Given the description of an element on the screen output the (x, y) to click on. 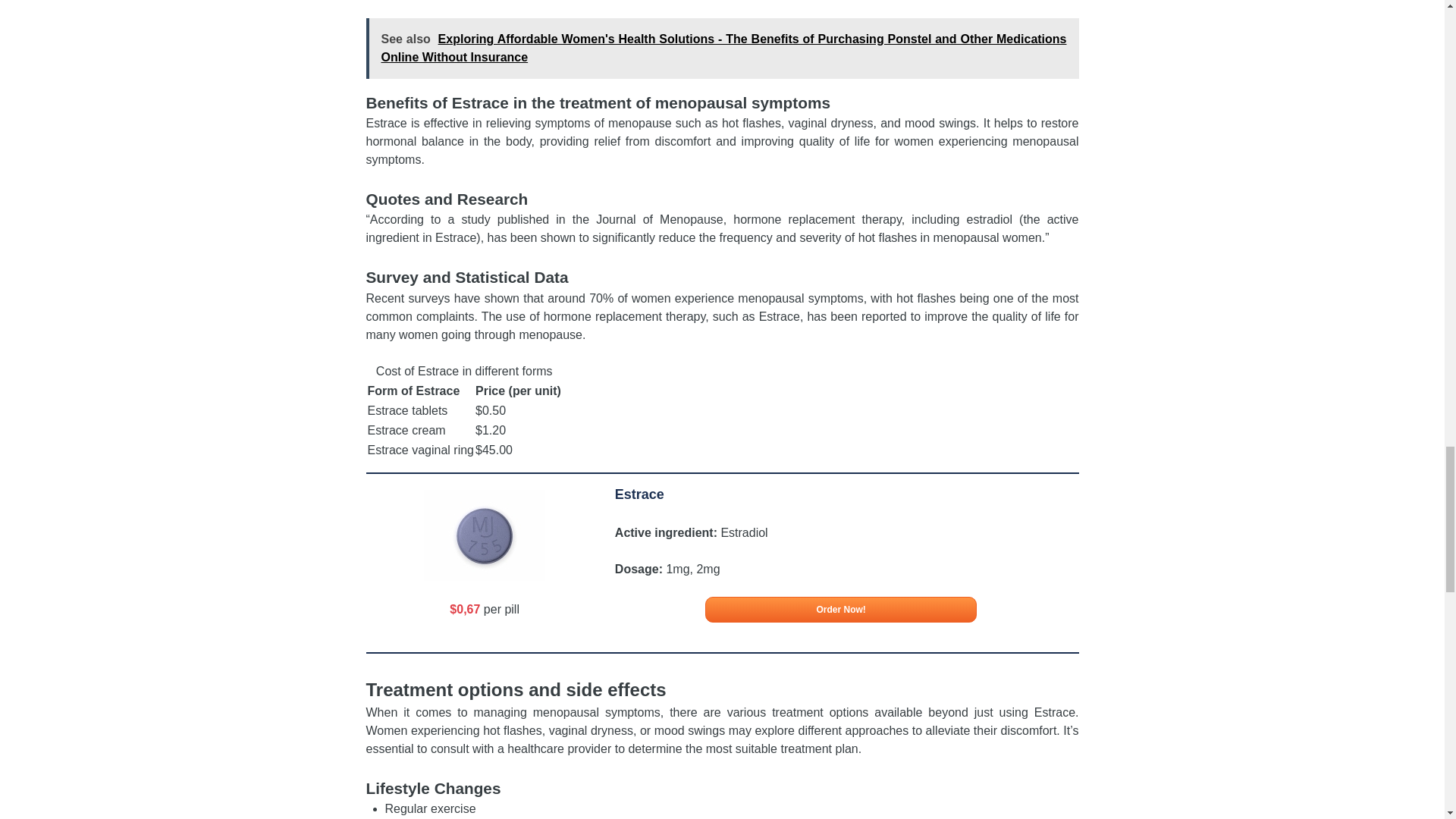
Order Now! (840, 609)
